Given the description of an element on the screen output the (x, y) to click on. 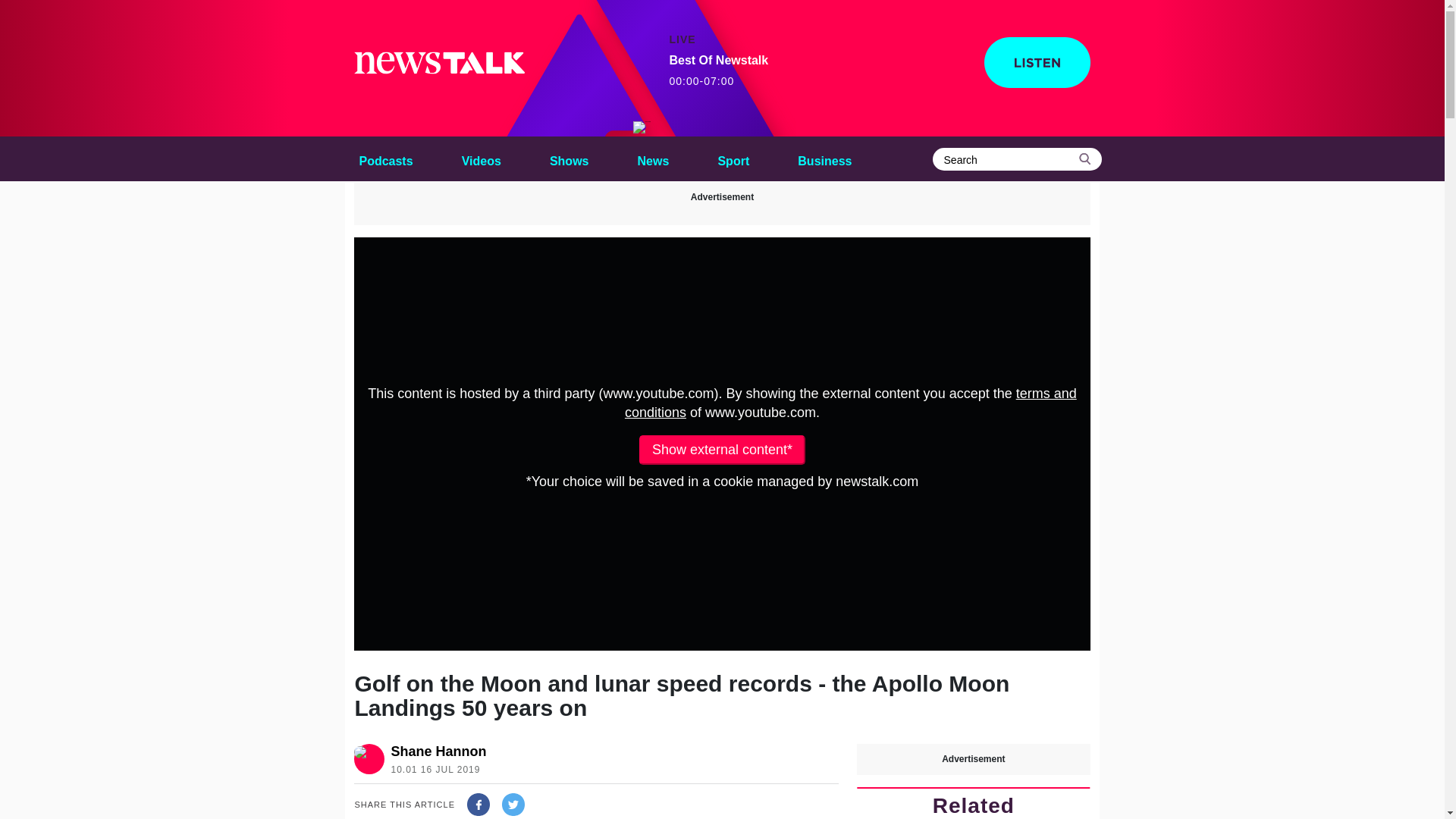
terms and conditions (850, 402)
Podcasts (384, 158)
News (653, 158)
Business (718, 70)
Shane Hannon (824, 158)
Sport (438, 751)
Videos (733, 158)
Sport (481, 158)
Videos (733, 158)
